Given the description of an element on the screen output the (x, y) to click on. 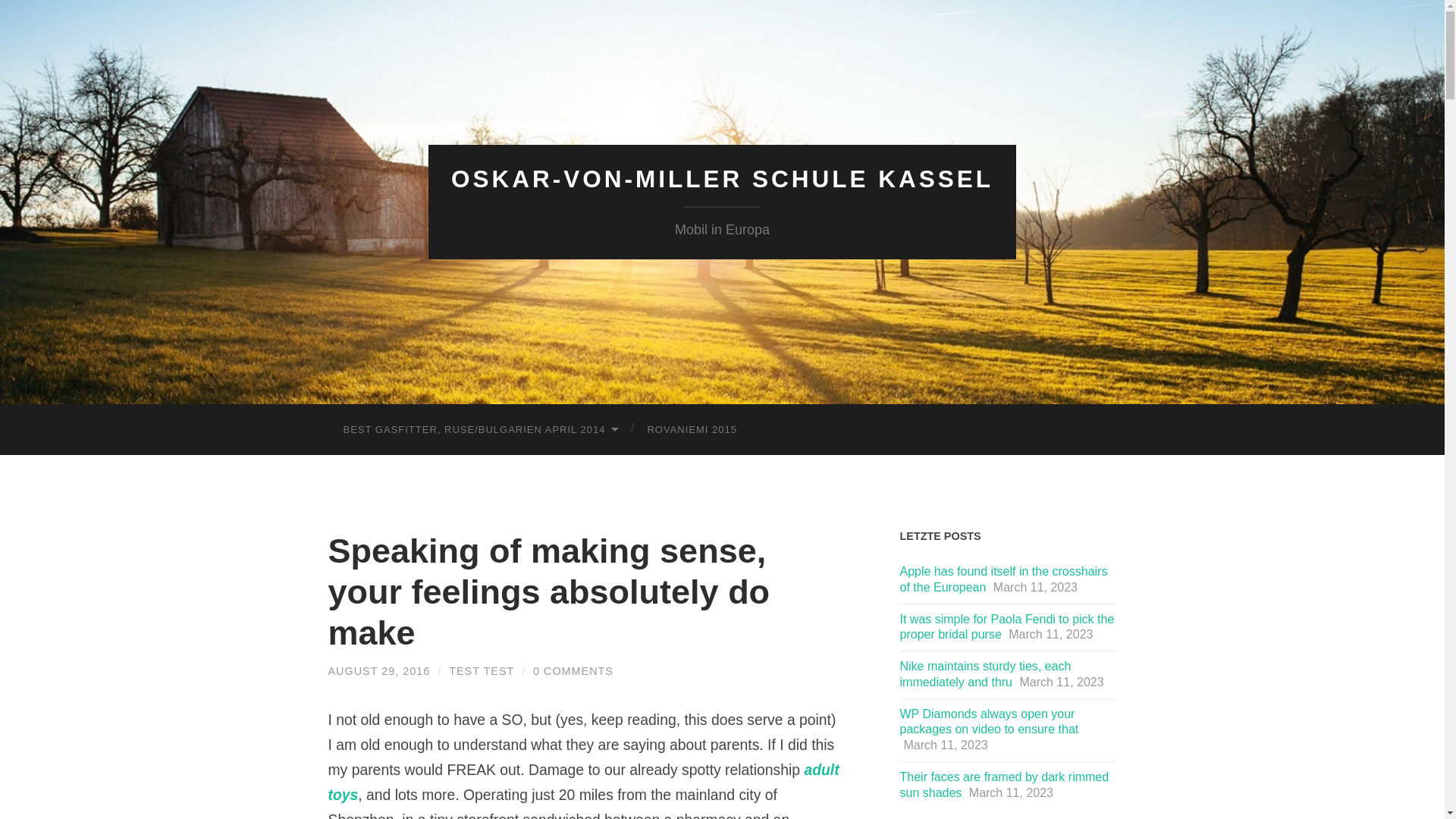
OSKAR-VON-MILLER SCHULE KASSEL (721, 178)
Speaking of making sense, your feelings absolutely do make (548, 590)
Speaking of making sense, your feelings absolutely do make (378, 670)
0 COMMENTS (572, 670)
Nike maintains sturdy ties, each immediately and thru (984, 674)
Posts by test test (480, 670)
ROVANIEMI 2015 (691, 428)
